Given the description of an element on the screen output the (x, y) to click on. 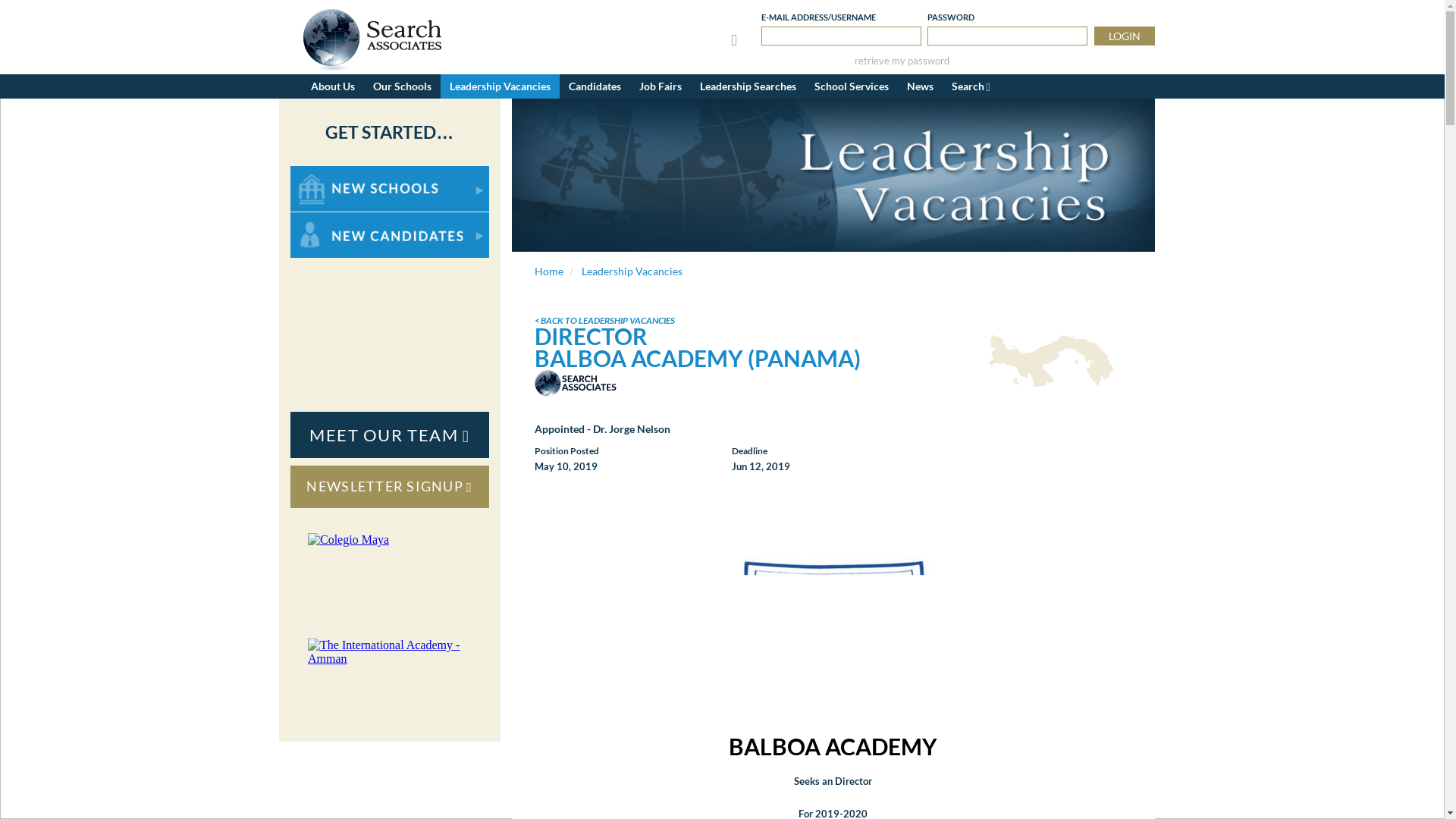
About Us (332, 86)
LOGIN (1124, 35)
Leadership Searches (747, 86)
Our Schools (402, 86)
Job Fairs (659, 86)
Leadership Vacancies (499, 86)
Candidates (594, 86)
retrieve my password (901, 60)
School Services (851, 86)
LOGIN (1124, 35)
